Given the description of an element on the screen output the (x, y) to click on. 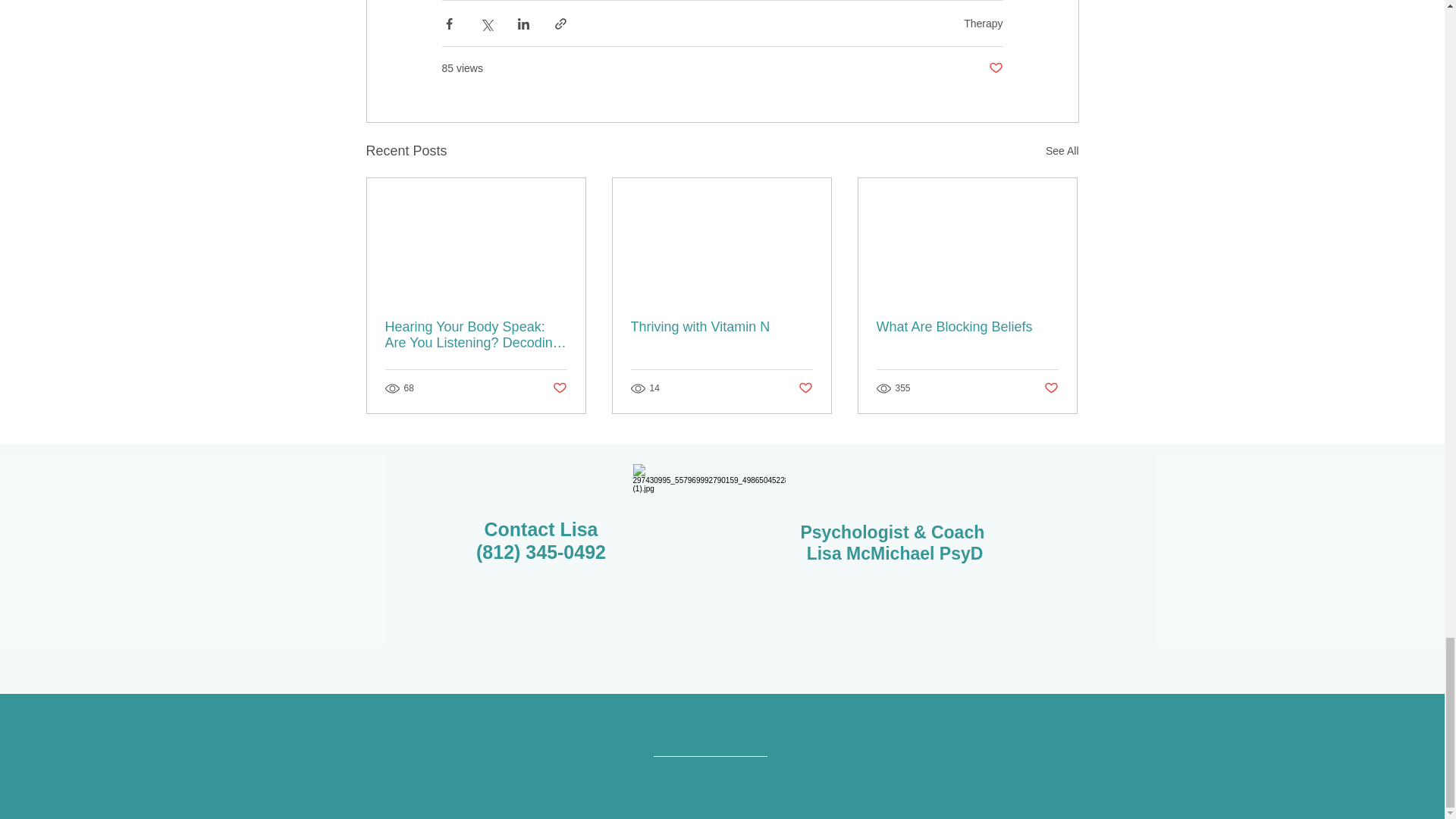
See All (1061, 151)
Thriving with Vitamin N (721, 326)
Post not marked as liked (804, 387)
Post not marked as liked (1050, 387)
Therapy (983, 23)
What Are Blocking Beliefs (967, 326)
Post not marked as liked (995, 68)
Post not marked as liked (558, 387)
